Given the description of an element on the screen output the (x, y) to click on. 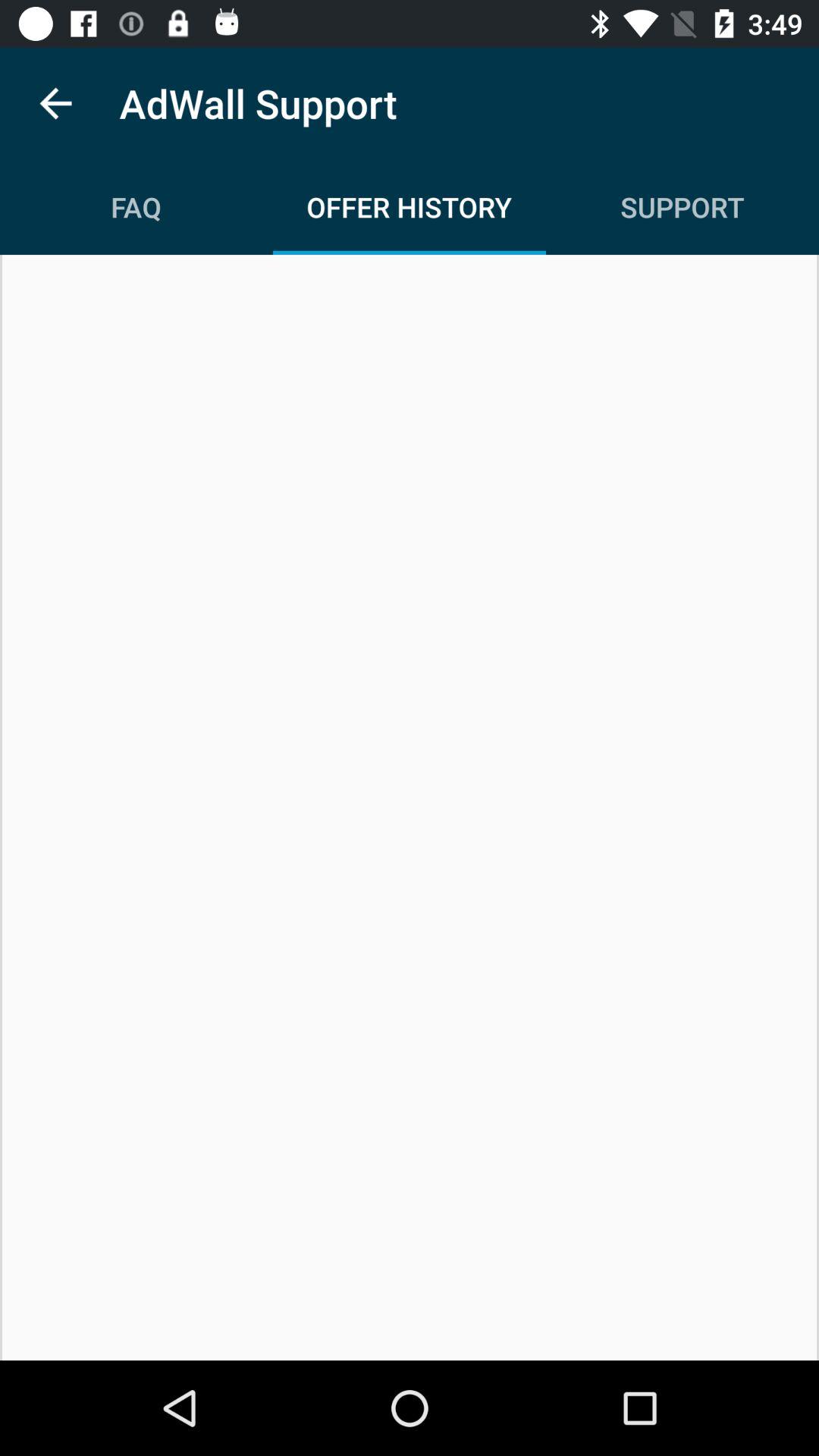
open icon next to the adwall support icon (55, 103)
